Given the description of an element on the screen output the (x, y) to click on. 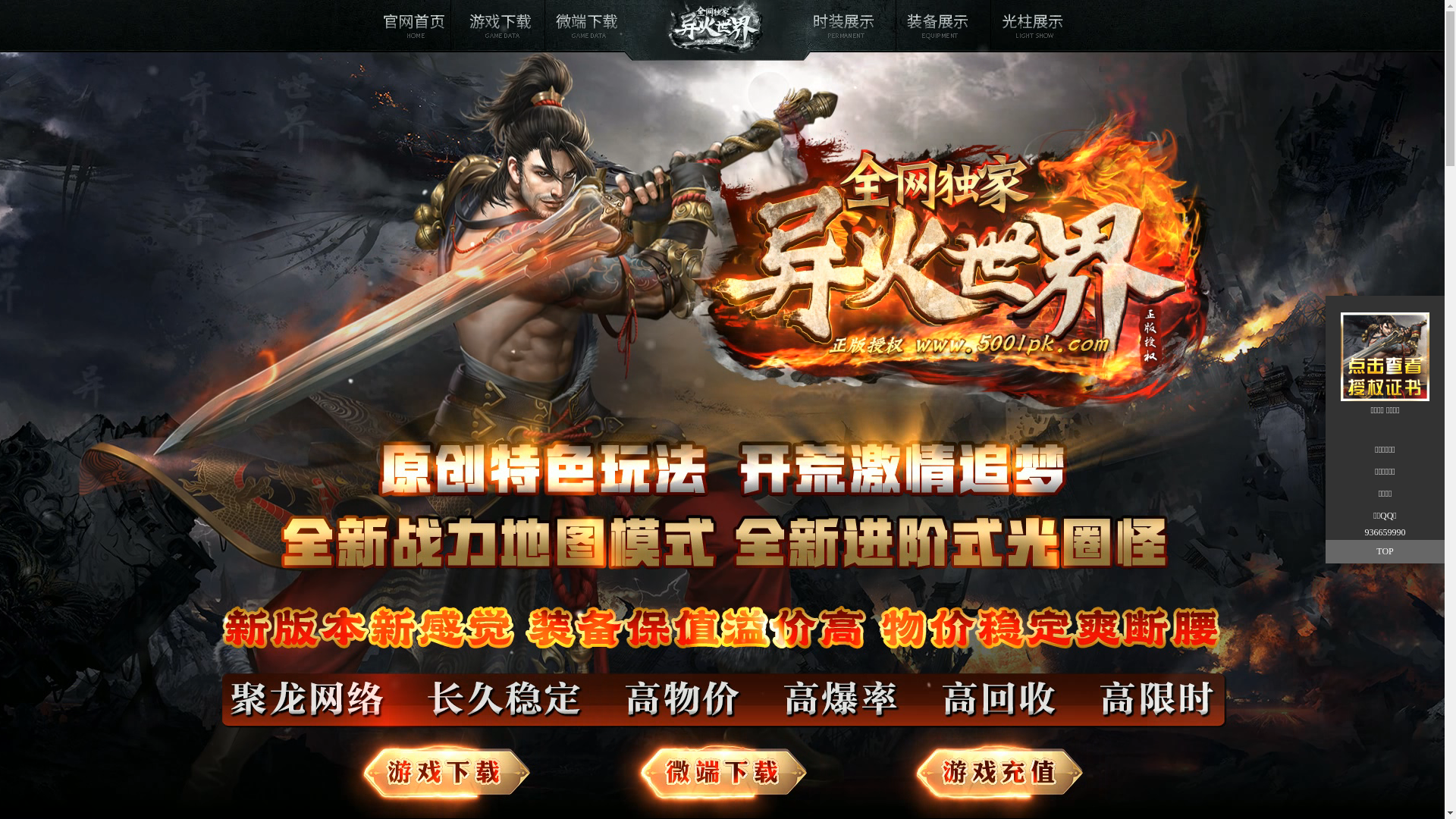
TOP Element type: text (1384, 551)
